Given the description of an element on the screen output the (x, y) to click on. 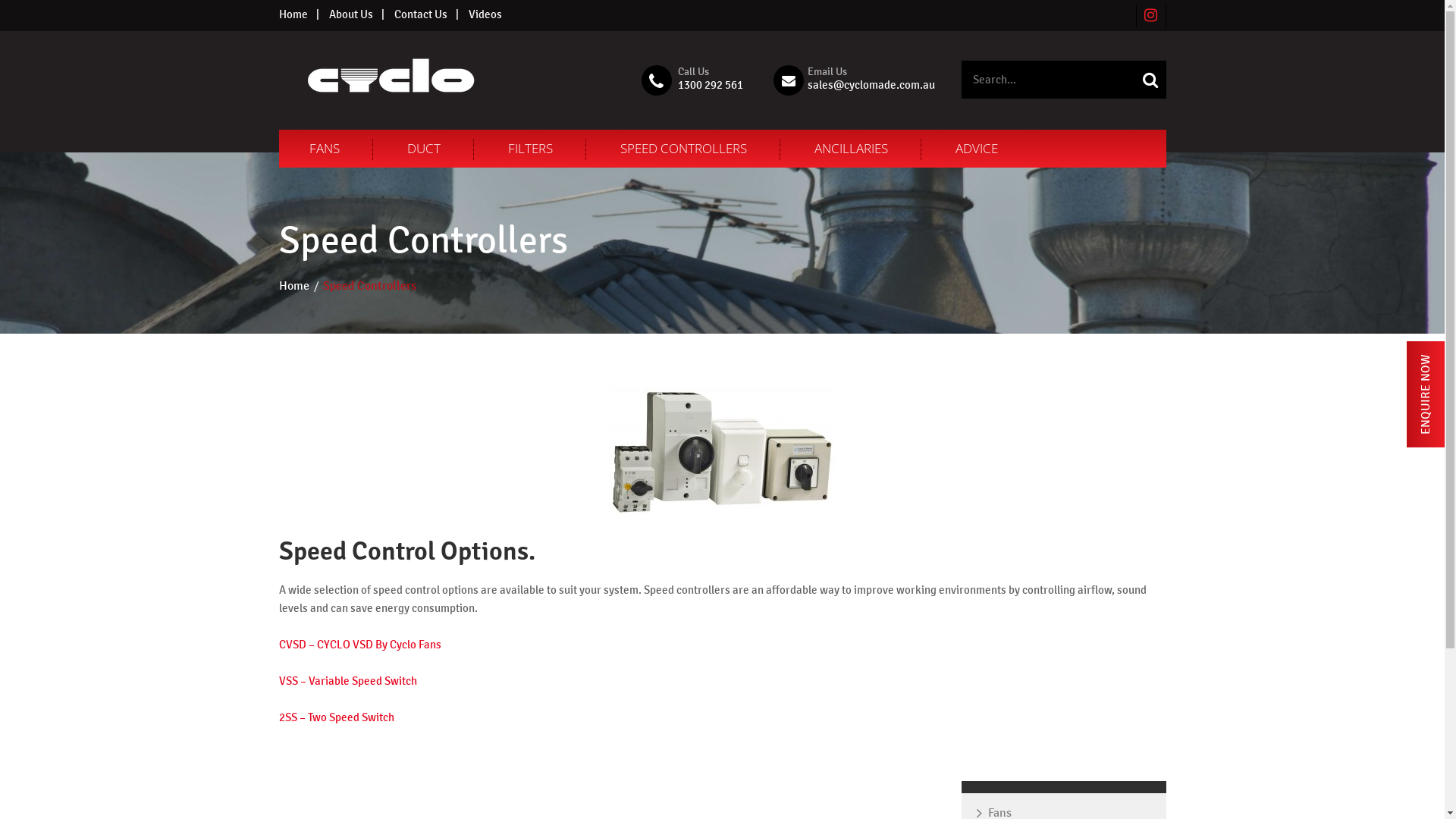
1300 292 561 Element type: text (710, 84)
About Us Element type: text (351, 14)
Home Element type: text (294, 285)
Instagram Element type: hover (1150, 14)
Videos Element type: text (485, 14)
Home Element type: text (293, 14)
ANCILLARIES Element type: text (850, 147)
ADVICE Element type: text (976, 147)
sales@cyclomade.com.au Element type: text (870, 84)
FANS Element type: text (324, 147)
Contact Us Element type: text (420, 14)
SPEED CONTROLLERS Element type: text (683, 147)
Cyclofans Element type: hover (390, 78)
DUCT Element type: text (422, 147)
FILTERS Element type: text (530, 147)
